Given the description of an element on the screen output the (x, y) to click on. 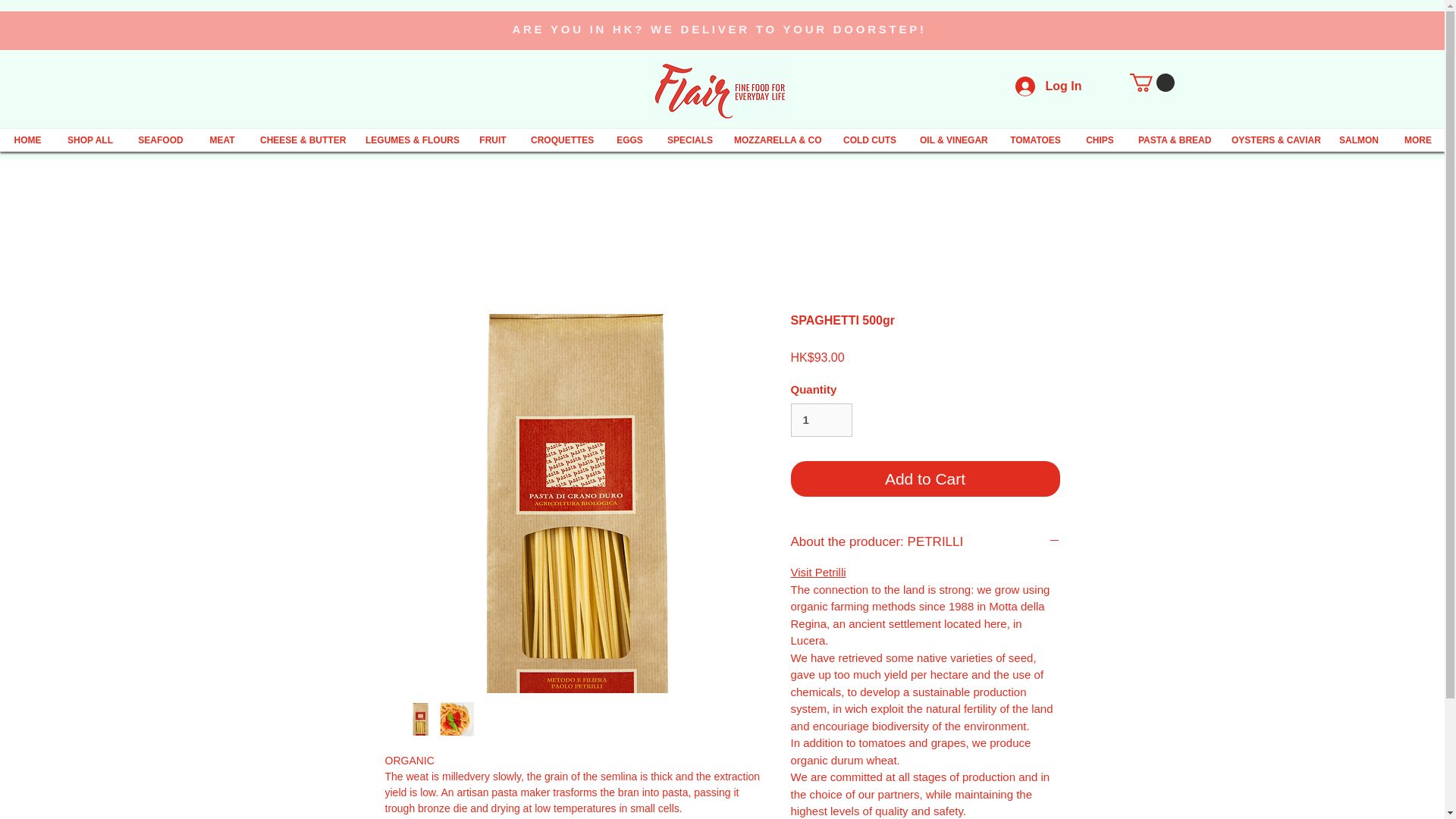
CHIPS (1099, 139)
SEAFOOD (160, 139)
SHOP ALL (90, 139)
TOMATOES (1035, 139)
FRUIT (492, 139)
EGGS (629, 139)
HOME (27, 139)
1 (820, 419)
SPECIALS (688, 139)
Log In (1048, 86)
